Given the description of an element on the screen output the (x, y) to click on. 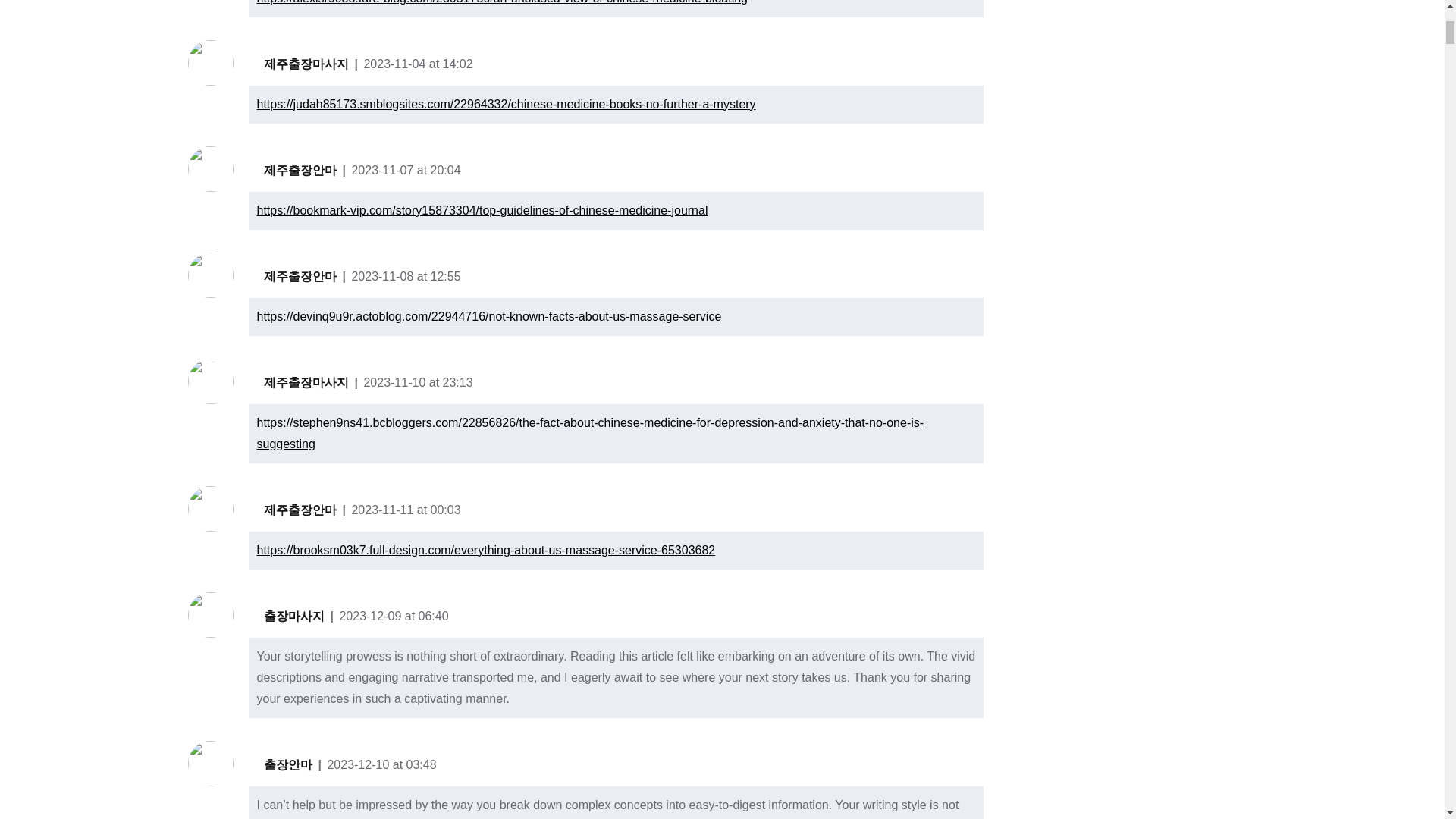
2023-11-07 at 20:04 (405, 169)
2023-11-04 at 14:02 (416, 63)
2023-11-10 at 23:13 (416, 382)
2023-11-08 at 12:55 (405, 276)
